Given the description of an element on the screen output the (x, y) to click on. 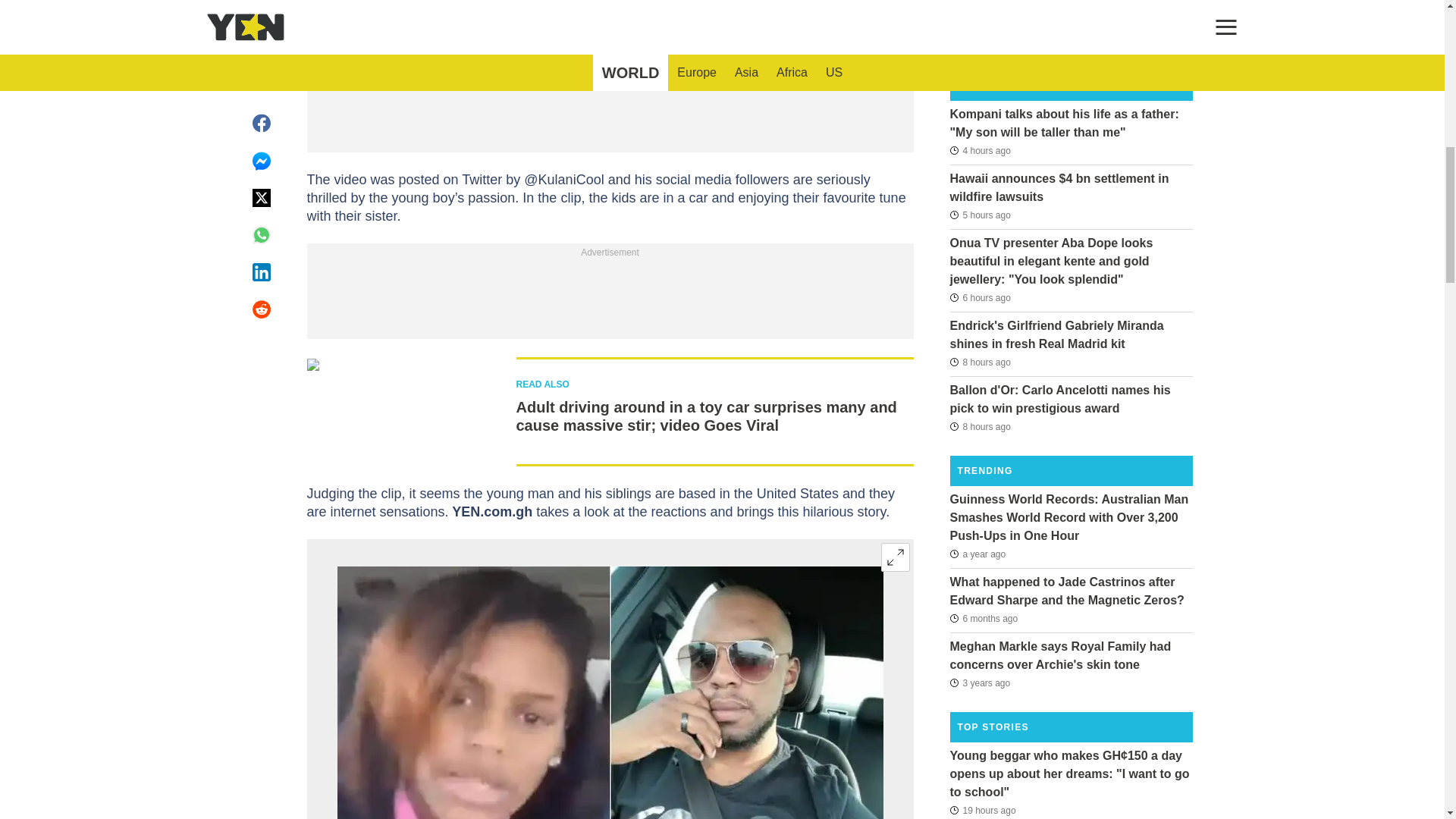
2024-08-02T12:56:11Z (981, 809)
2024-08-03T04:31:30Z (979, 149)
2024-08-03T00:24:28Z (979, 361)
2024-08-03T00:22:47Z (979, 425)
2023-04-24T18:52:51Z (977, 553)
2024-08-03T02:24:10Z (979, 297)
2024-01-29T21:18:11Z (983, 618)
Expand image (895, 556)
2021-03-08T08:22:04Z (979, 682)
2024-08-03T03:28:03Z (979, 215)
